Given the description of an element on the screen output the (x, y) to click on. 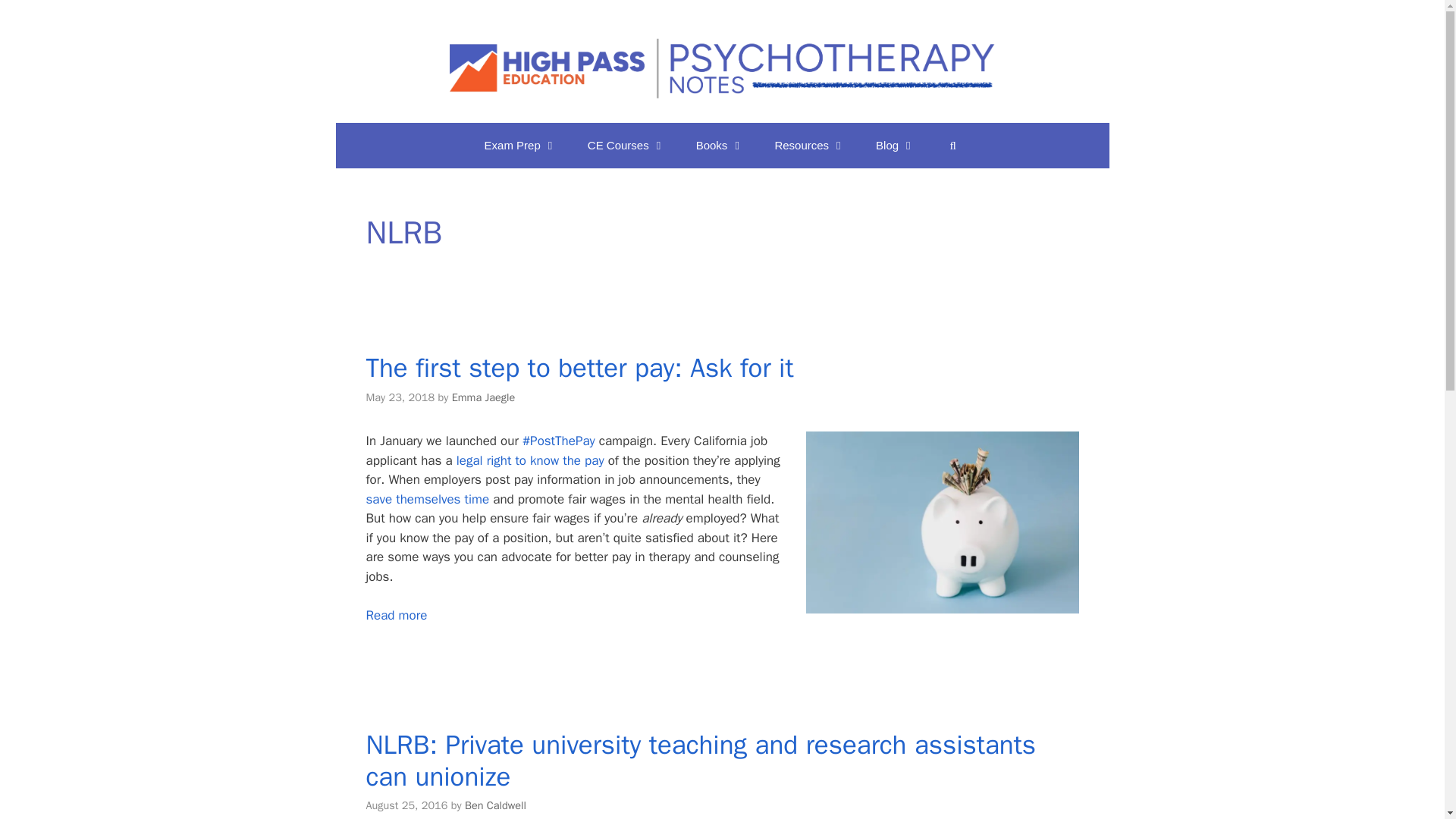
Read more (395, 615)
Resources (809, 145)
View all posts by Emma Jaegle (483, 397)
The first step to better pay: Ask for it (579, 367)
Blog (895, 145)
CE Courses (626, 145)
View all posts by Ben Caldwell (494, 805)
Books (720, 145)
Exam Prep (520, 145)
legal right to know the pay (530, 460)
